Given the description of an element on the screen output the (x, y) to click on. 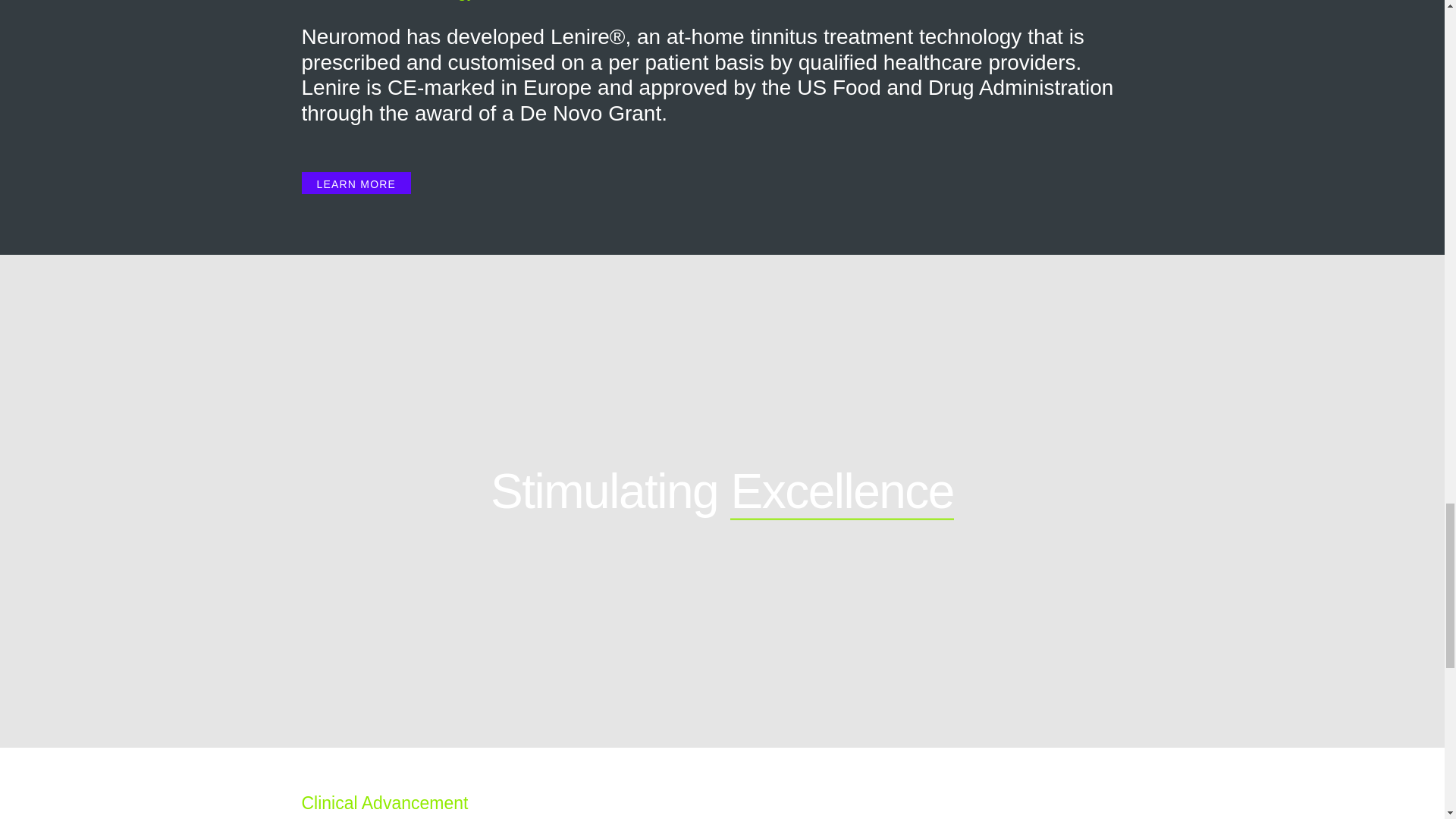
LEARN MORE (356, 182)
